Given the description of an element on the screen output the (x, y) to click on. 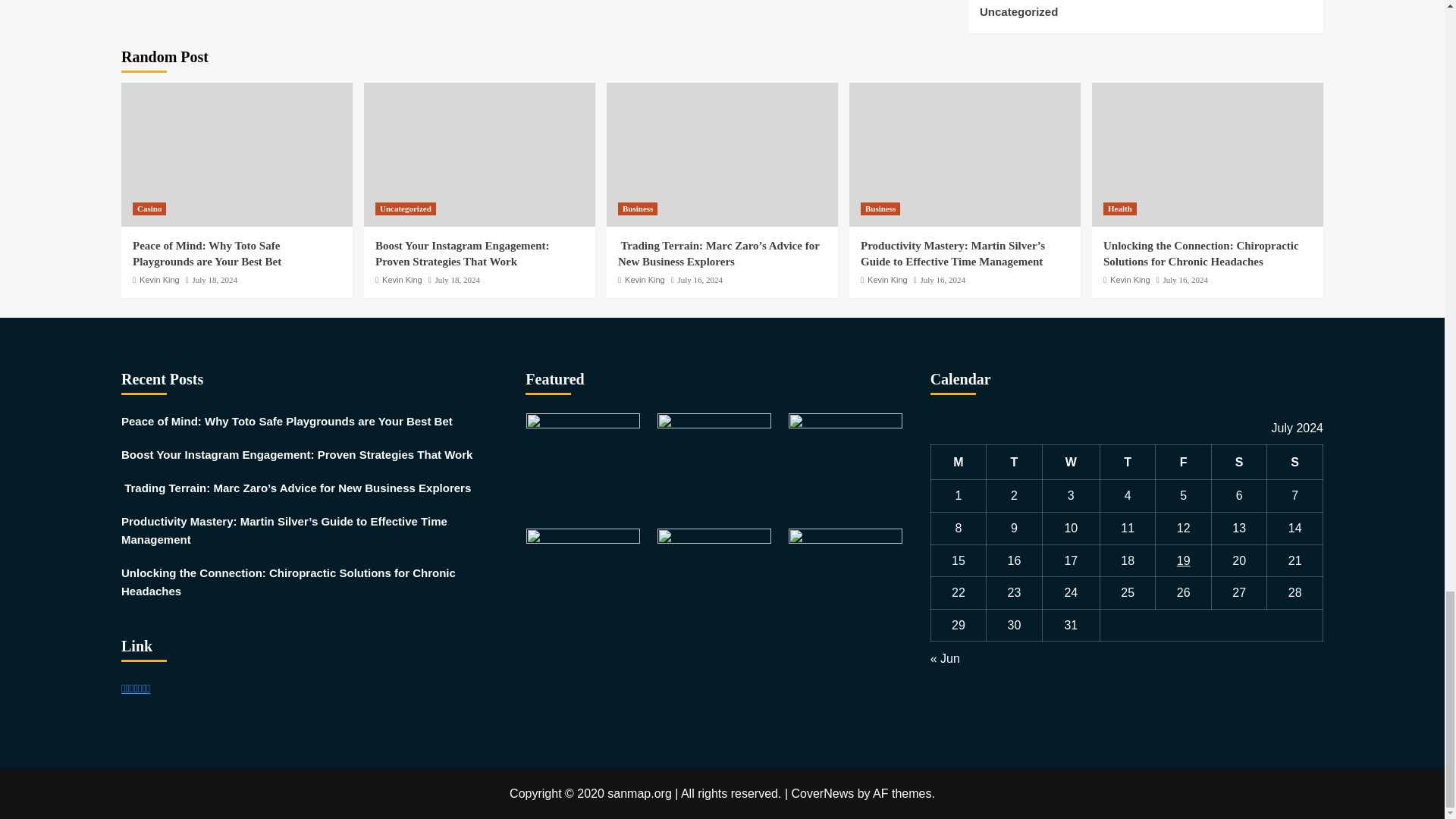
Friday (1183, 461)
Wednesday (1070, 461)
Tuesday (1014, 461)
Thursday (1127, 461)
Sunday (1294, 461)
Monday (958, 461)
Saturday (1238, 461)
